Given the description of an element on the screen output the (x, y) to click on. 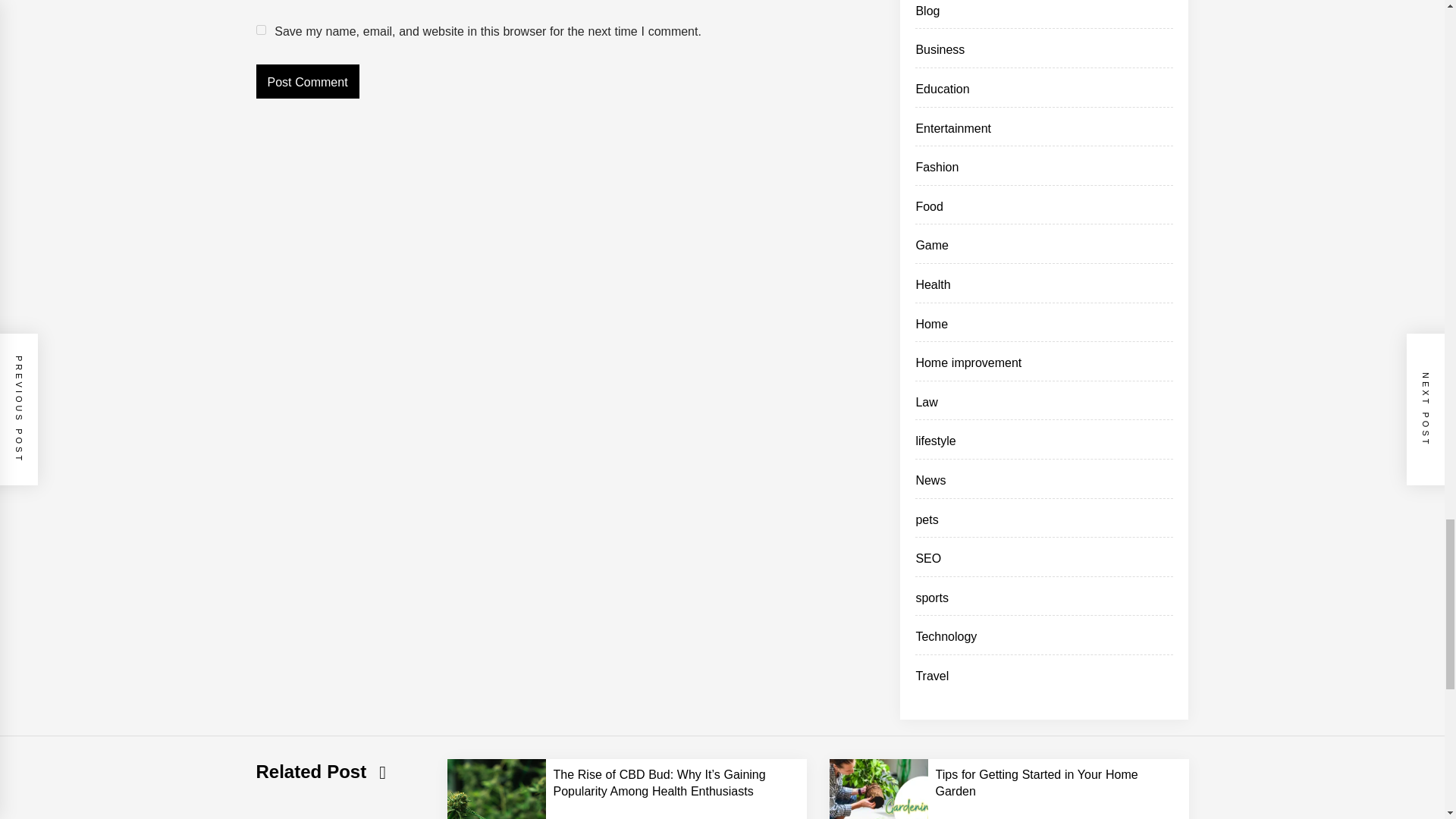
Post Comment (307, 81)
Post Comment (307, 81)
yes (261, 30)
